Given the description of an element on the screen output the (x, y) to click on. 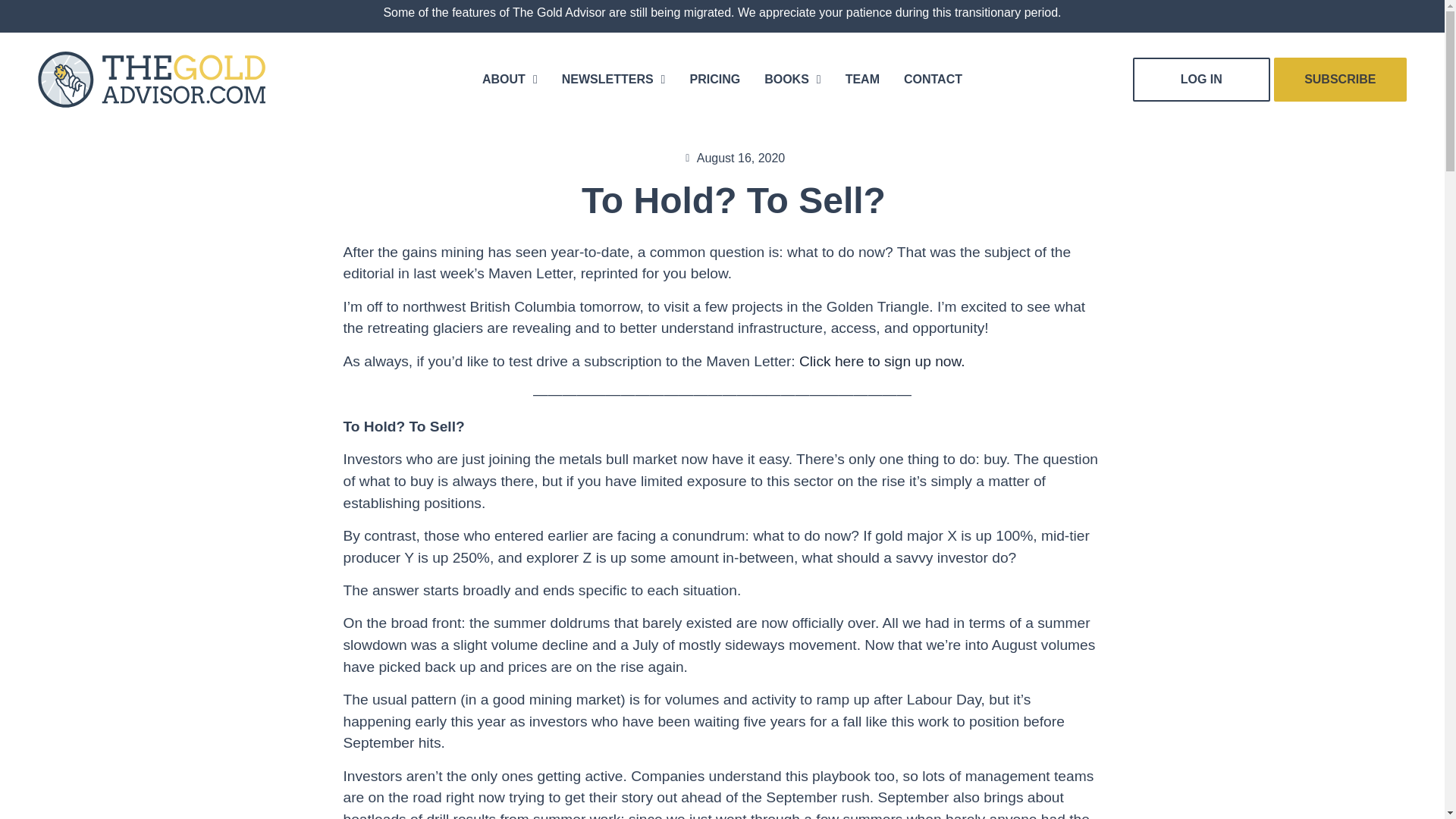
Click here to sign up now. (882, 360)
BOOKS (792, 79)
NEWSLETTERS (613, 79)
LOG IN (1200, 79)
CONTACT (933, 79)
August 16, 2020 (734, 158)
PRICING (713, 79)
TEAM (862, 79)
SUBSCRIBE (1340, 79)
ABOUT (509, 79)
